Given the description of an element on the screen output the (x, y) to click on. 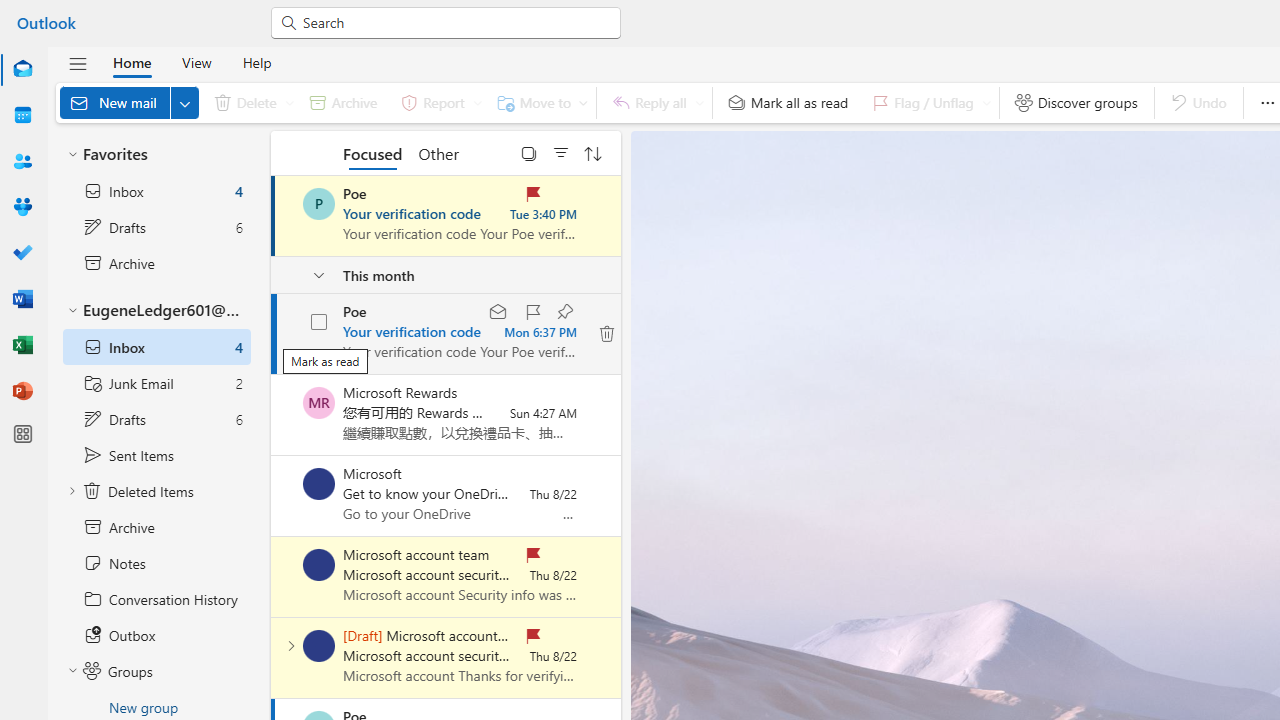
Excel (22, 345)
View (196, 61)
Mark all as read (788, 102)
PowerPoint (22, 390)
Word (22, 299)
Expand to see delete options (289, 102)
Calendar (22, 115)
People (22, 161)
Microsoft Rewards (319, 403)
Class: Z0dEQ IKEiQ (606, 333)
Keep this message at the top of your folder (564, 312)
People (22, 161)
To Do (22, 252)
